Given the description of an element on the screen output the (x, y) to click on. 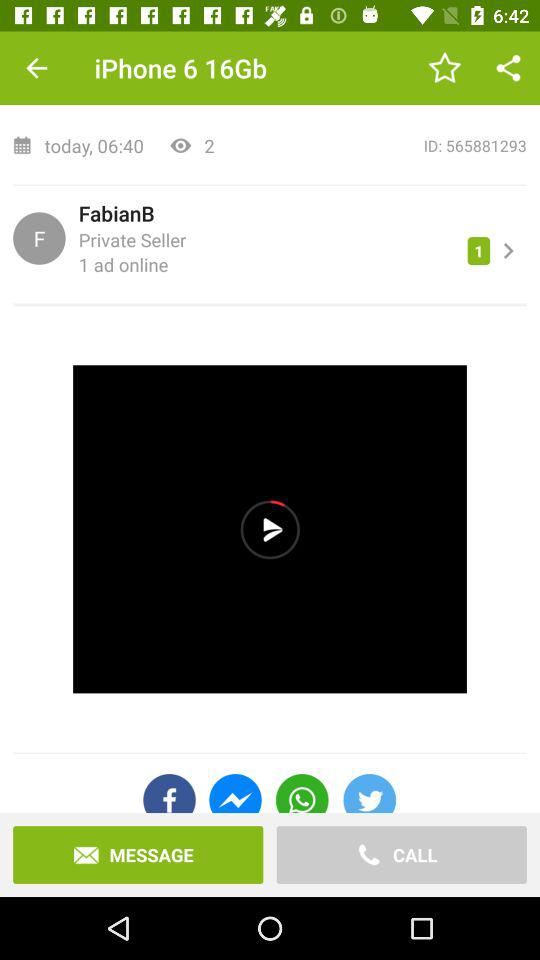
launch the item to the right of the iphone 6 16gb (444, 67)
